Given the description of an element on the screen output the (x, y) to click on. 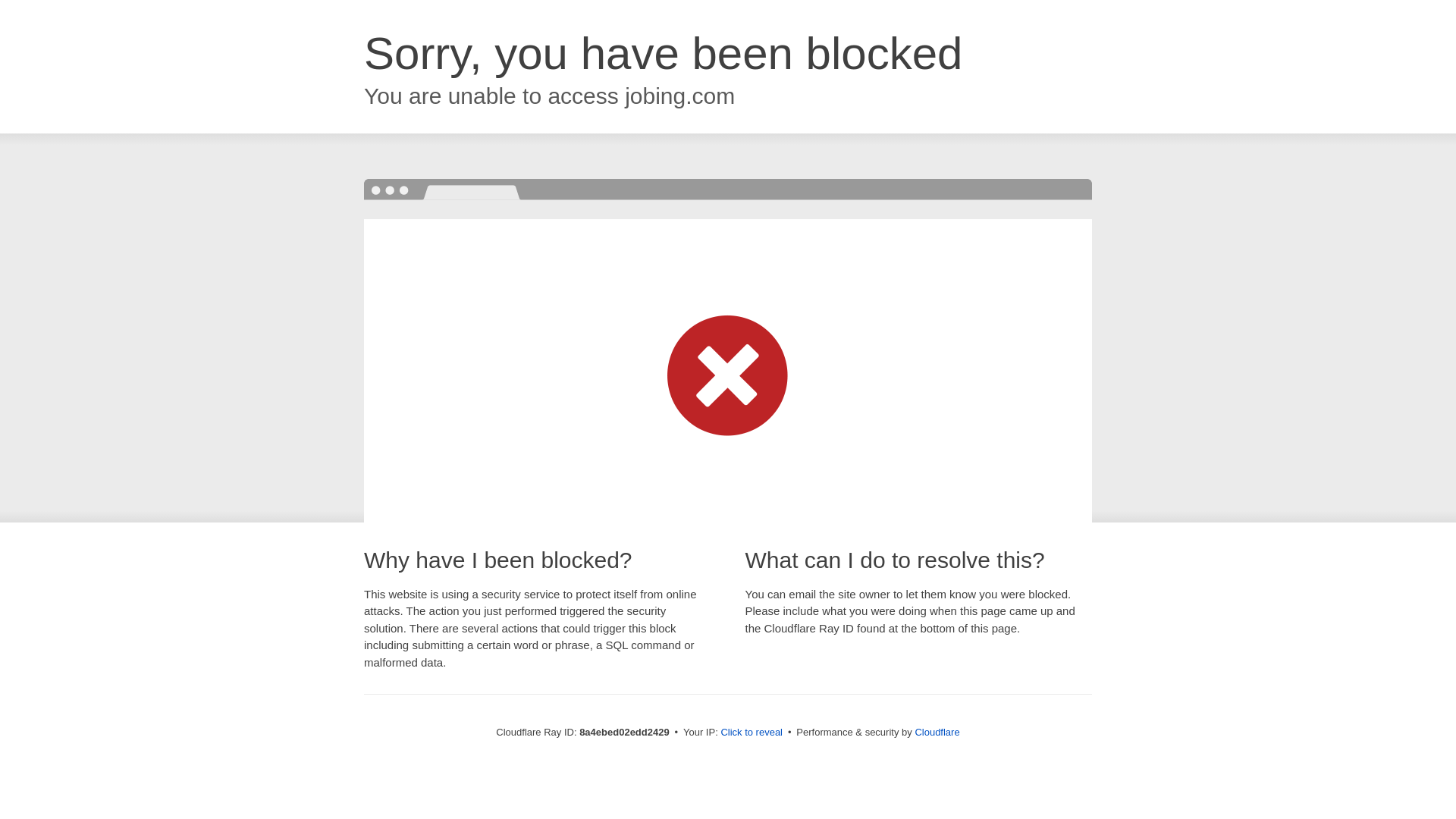
Click to reveal (751, 732)
Cloudflare (936, 731)
